Given the description of an element on the screen output the (x, y) to click on. 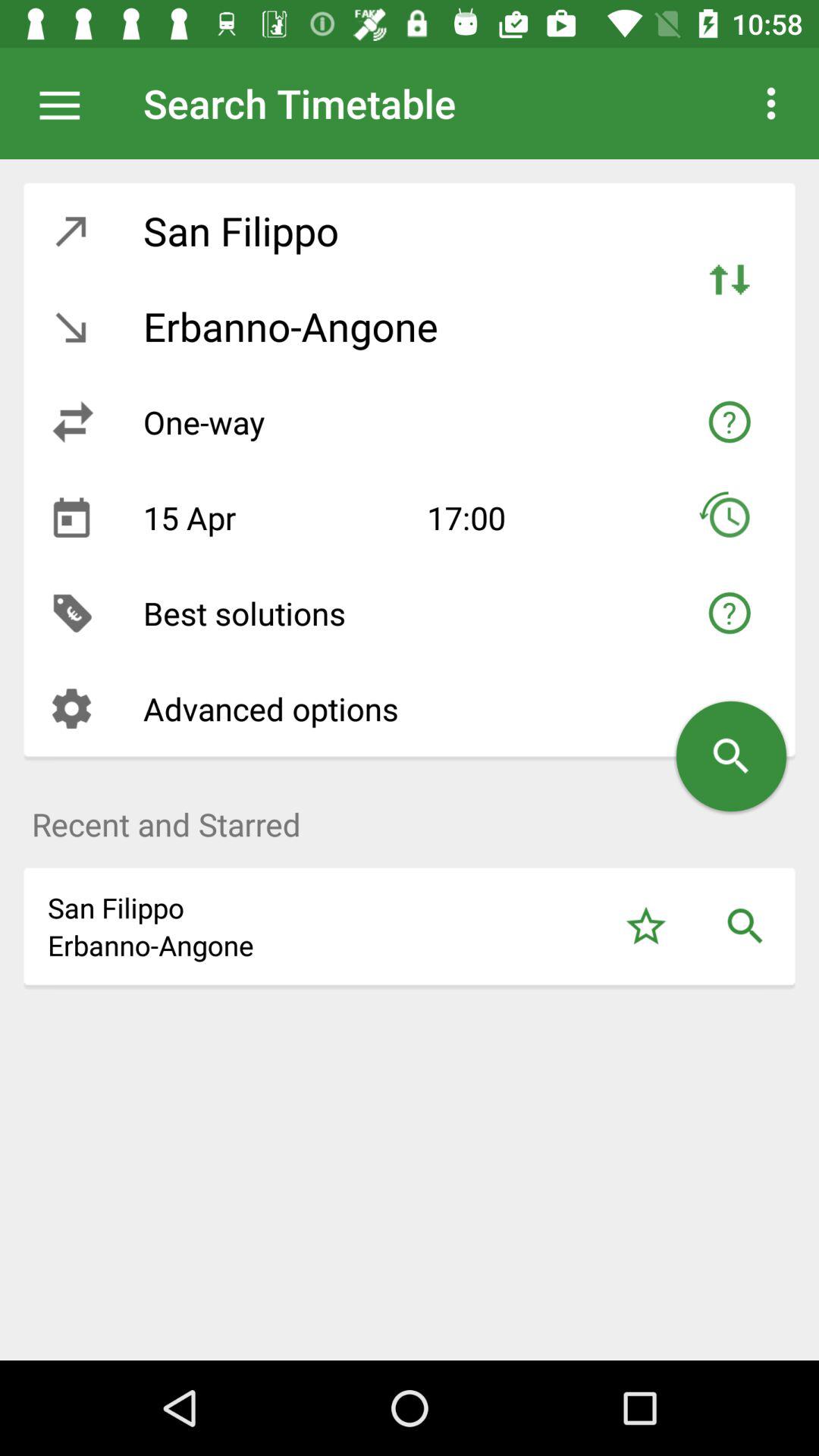
swipe to the 15 apr icon (273, 517)
